Given the description of an element on the screen output the (x, y) to click on. 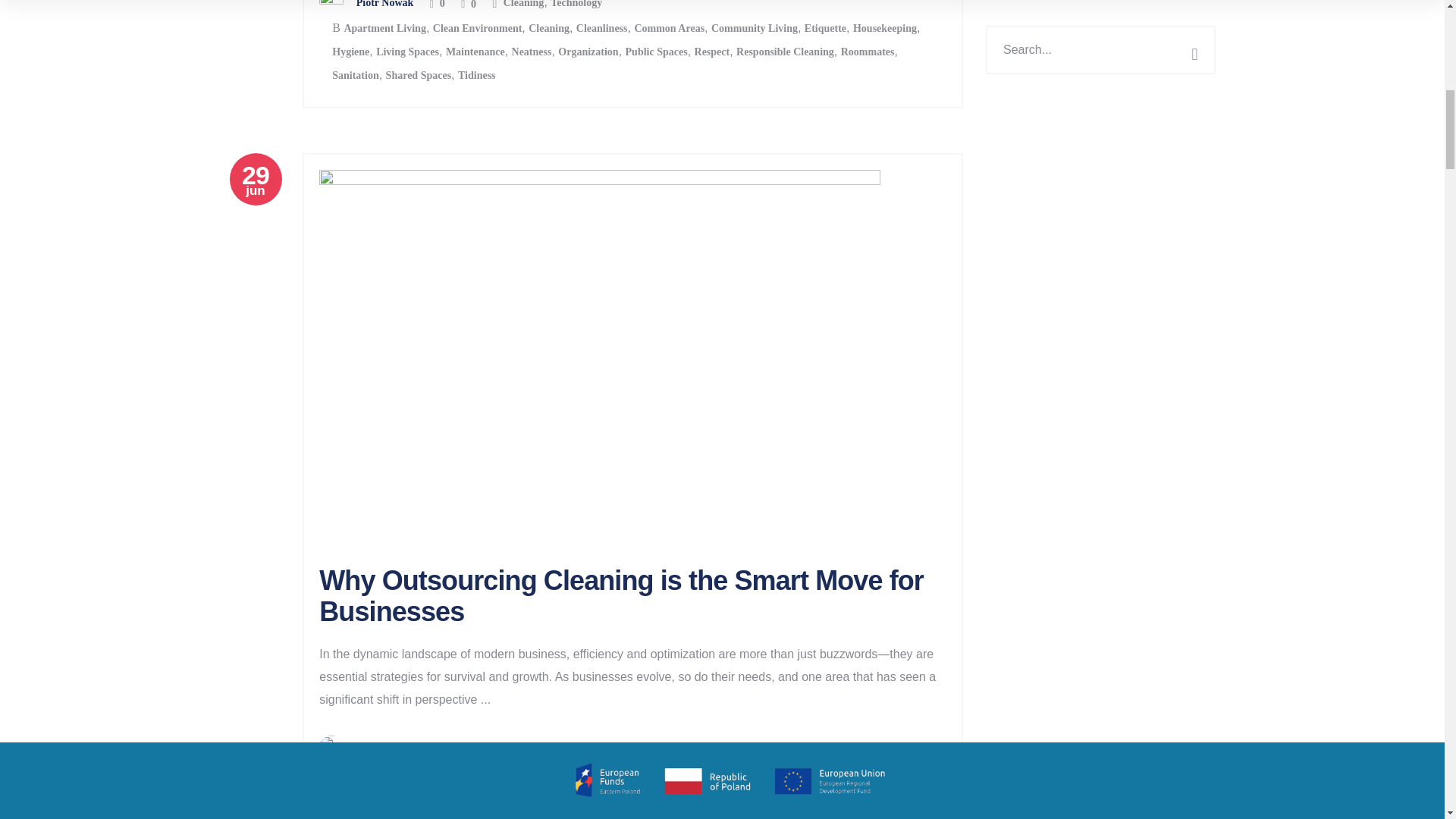
Like this (437, 749)
Cleaning (523, 4)
Why Outsourcing Cleaning is the Smart Move for Businesses (620, 595)
Piotr Nowak (384, 4)
Like this (437, 4)
Technology (576, 4)
0 (437, 4)
0 (468, 4)
